Given the description of an element on the screen output the (x, y) to click on. 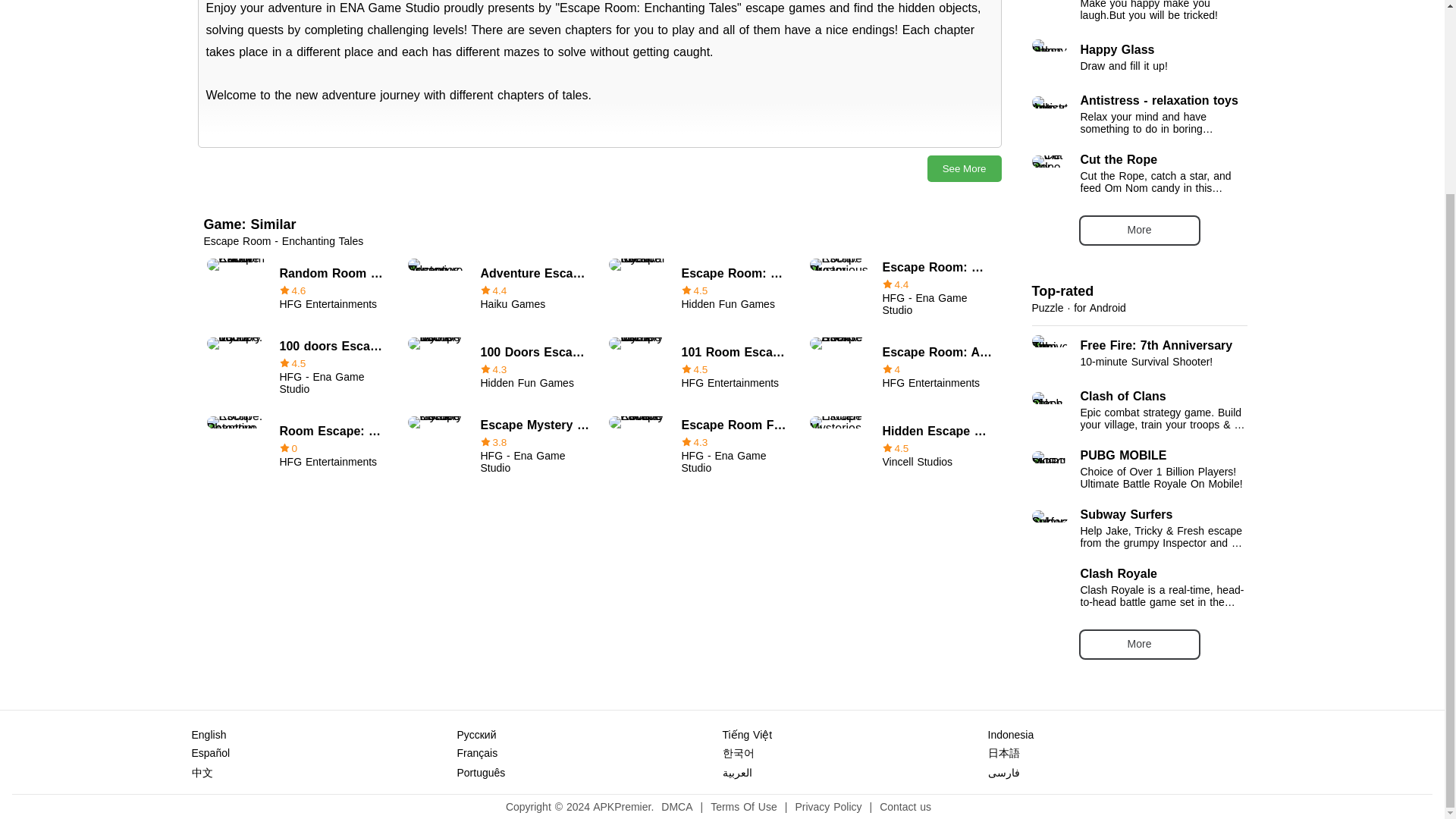
101 Room Escape Game - Mystery (699, 367)
Happy Glass APK (1138, 352)
Escape Room Fantasy - Reverie (1138, 57)
English (699, 446)
More (207, 734)
See More (1138, 644)
Random Room Escape - Door Exit (964, 168)
100 Doors Escape Room Mystery (297, 288)
